Given the description of an element on the screen output the (x, y) to click on. 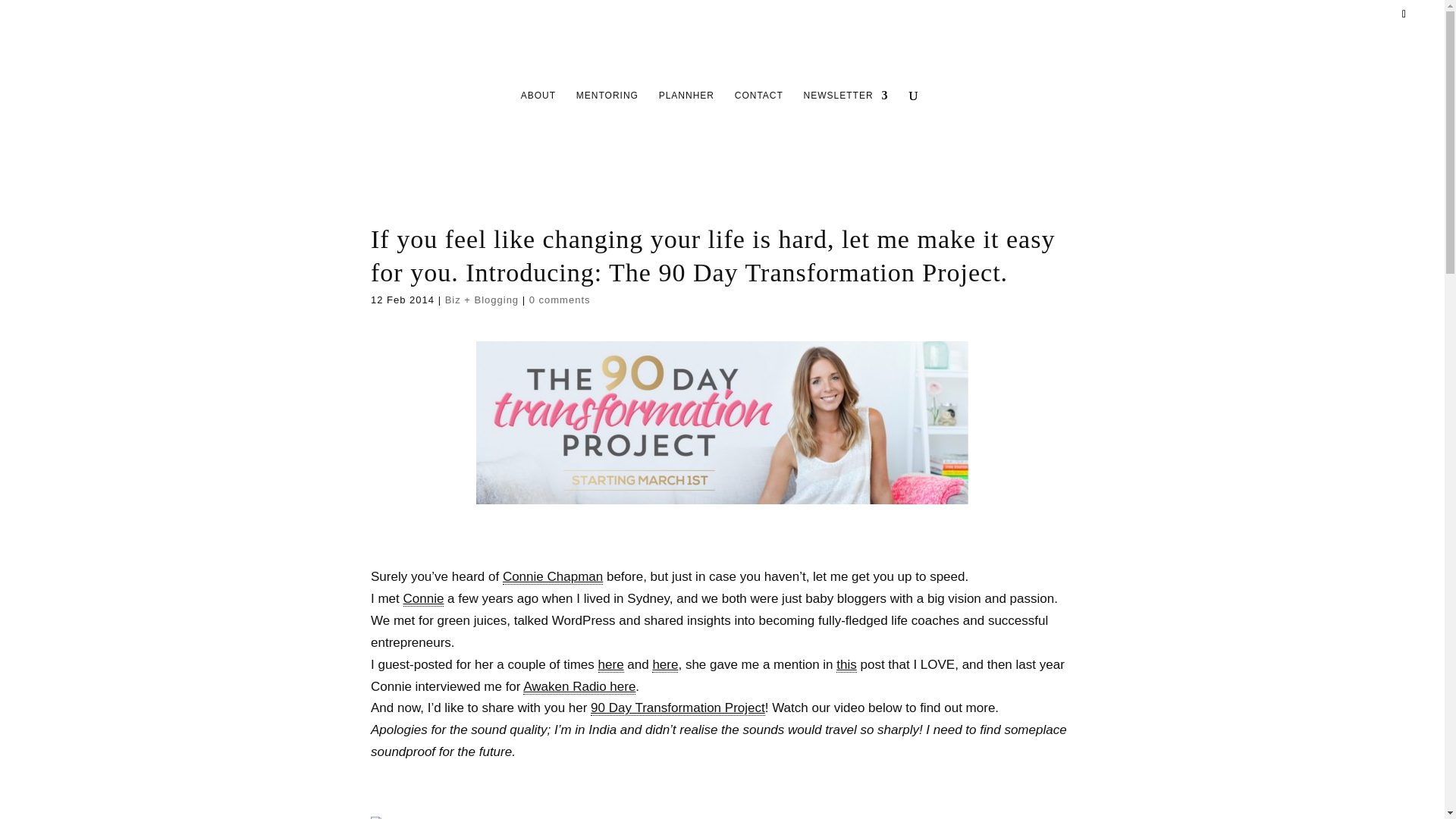
0 comments (560, 299)
here (611, 664)
Connie (423, 598)
Connie Chapman (552, 576)
here (665, 664)
Awaken Radio here (578, 686)
90 Day Transformation Project (678, 708)
this (845, 664)
NEWSLETTER (845, 125)
